Given the description of an element on the screen output the (x, y) to click on. 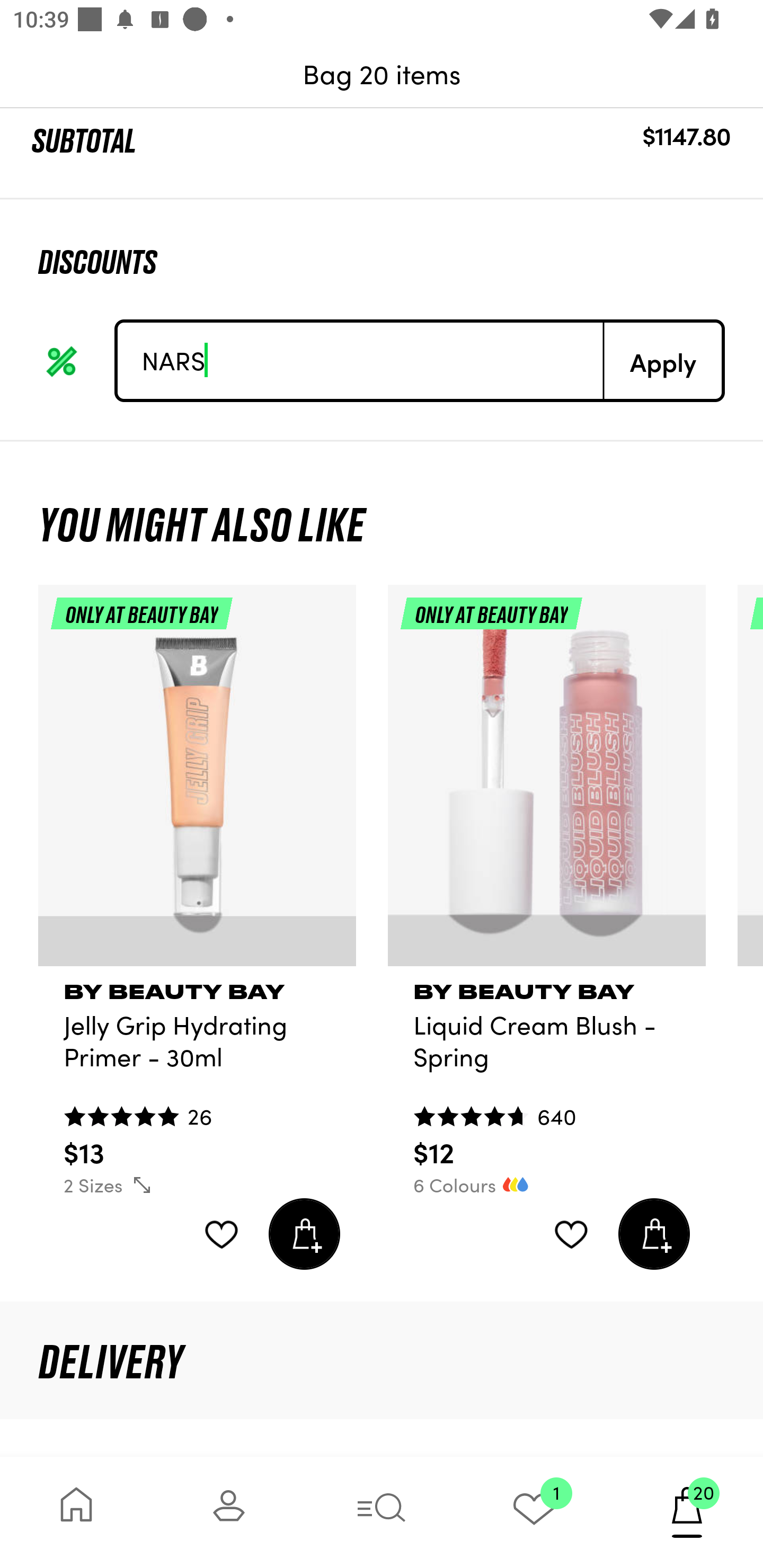
NARS (360, 360)
Apply (661, 360)
ONLY AT BEAUTY BAY (197, 782)
ONLY AT BEAUTY BAY (546, 782)
1 (533, 1512)
20 (686, 1512)
